Given the description of an element on the screen output the (x, y) to click on. 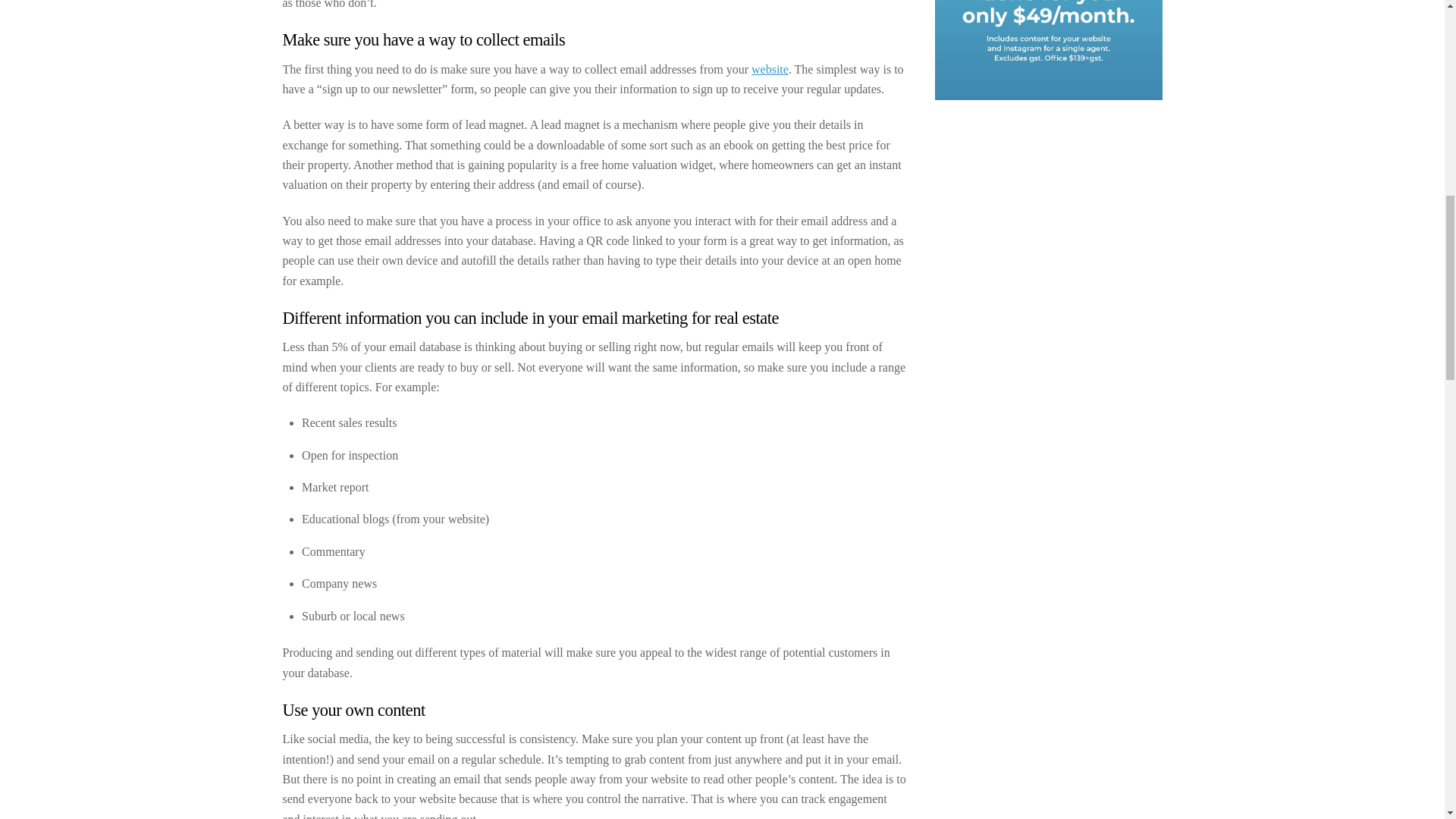
website (770, 69)
